Given the description of an element on the screen output the (x, y) to click on. 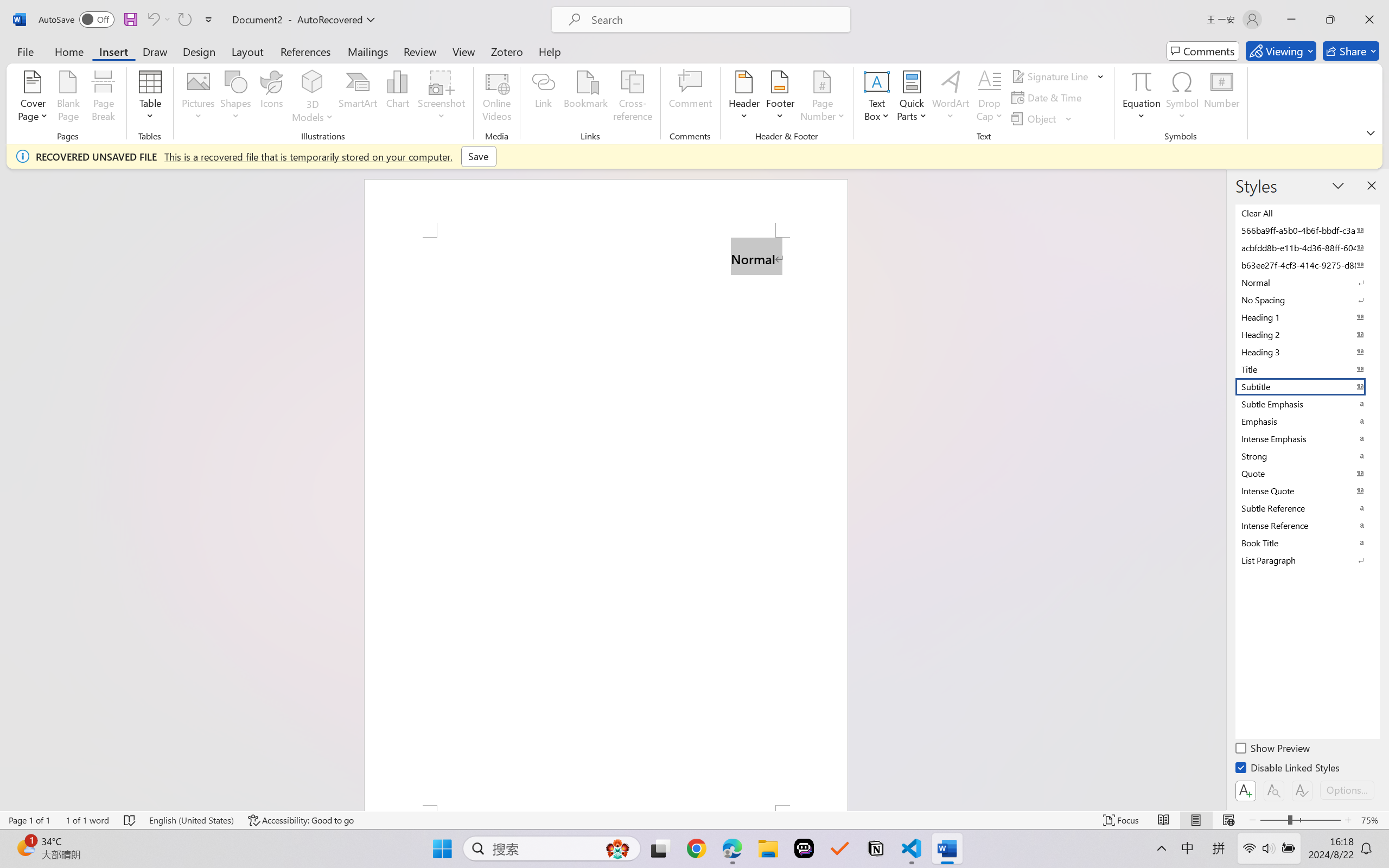
Shapes (235, 97)
Subtle Emphasis (1306, 404)
Date & Time... (1048, 97)
Cover Page (33, 97)
Equation (1141, 97)
Clear All (1306, 213)
Table (149, 97)
Bookmark... (585, 97)
